Given the description of an element on the screen output the (x, y) to click on. 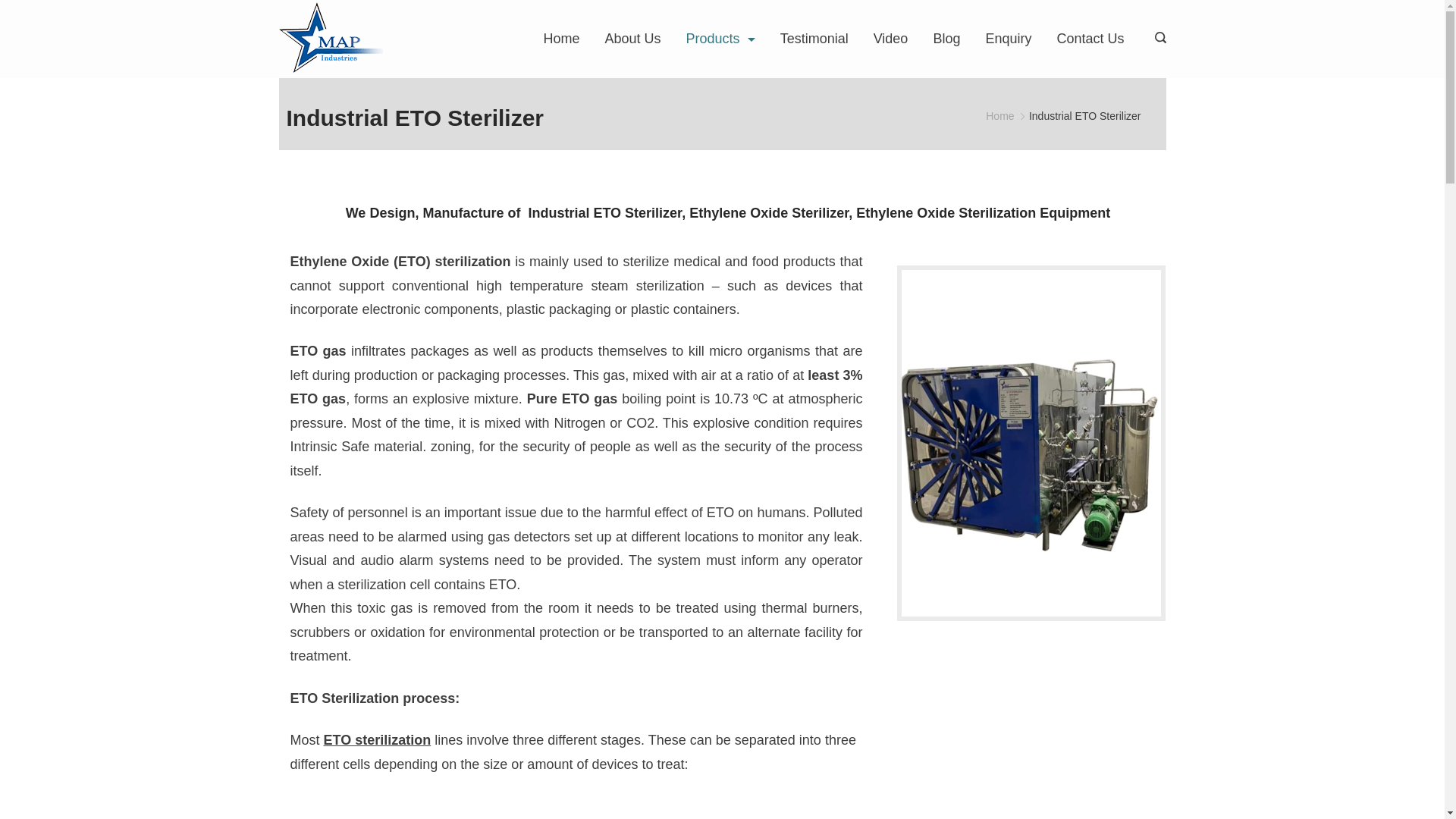
Testimonial (813, 38)
Products (719, 38)
searc (1156, 39)
Video (890, 38)
Blog (946, 38)
Enquiry (1007, 38)
About Us (632, 38)
Home (567, 38)
Contact Us (1083, 38)
